Given the description of an element on the screen output the (x, y) to click on. 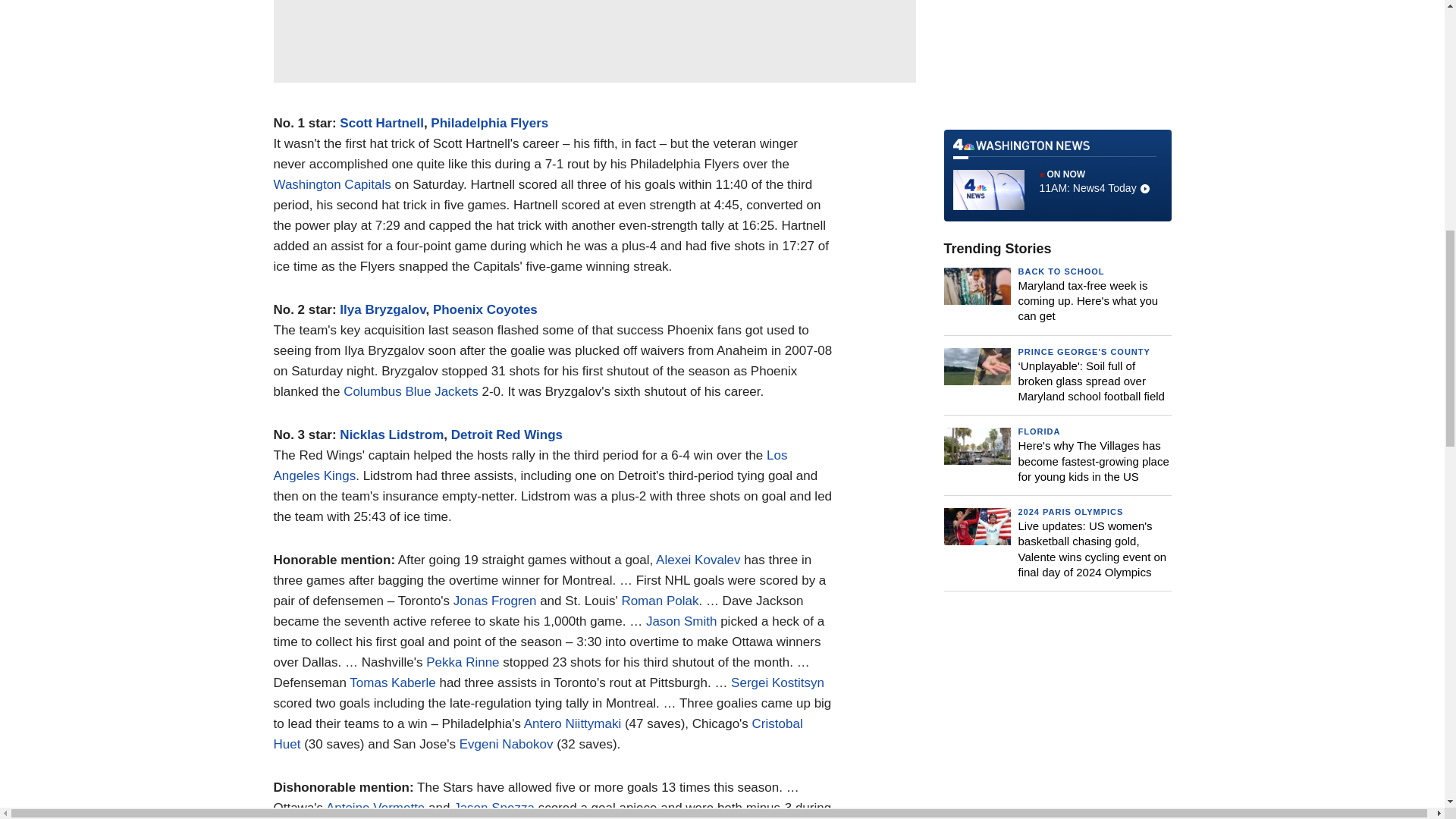
Jason Smith (681, 621)
Scott Hartnell (381, 123)
Roman Polak (659, 600)
Pekka Rinne (462, 662)
Columbus Blue Jackets (411, 391)
3rd party ad content (1056, 58)
Philadelphia Flyers (489, 123)
Nicklas Lidstrom (391, 434)
Alexei Kovalev (698, 559)
Jonas Frogren (494, 600)
